Given the description of an element on the screen output the (x, y) to click on. 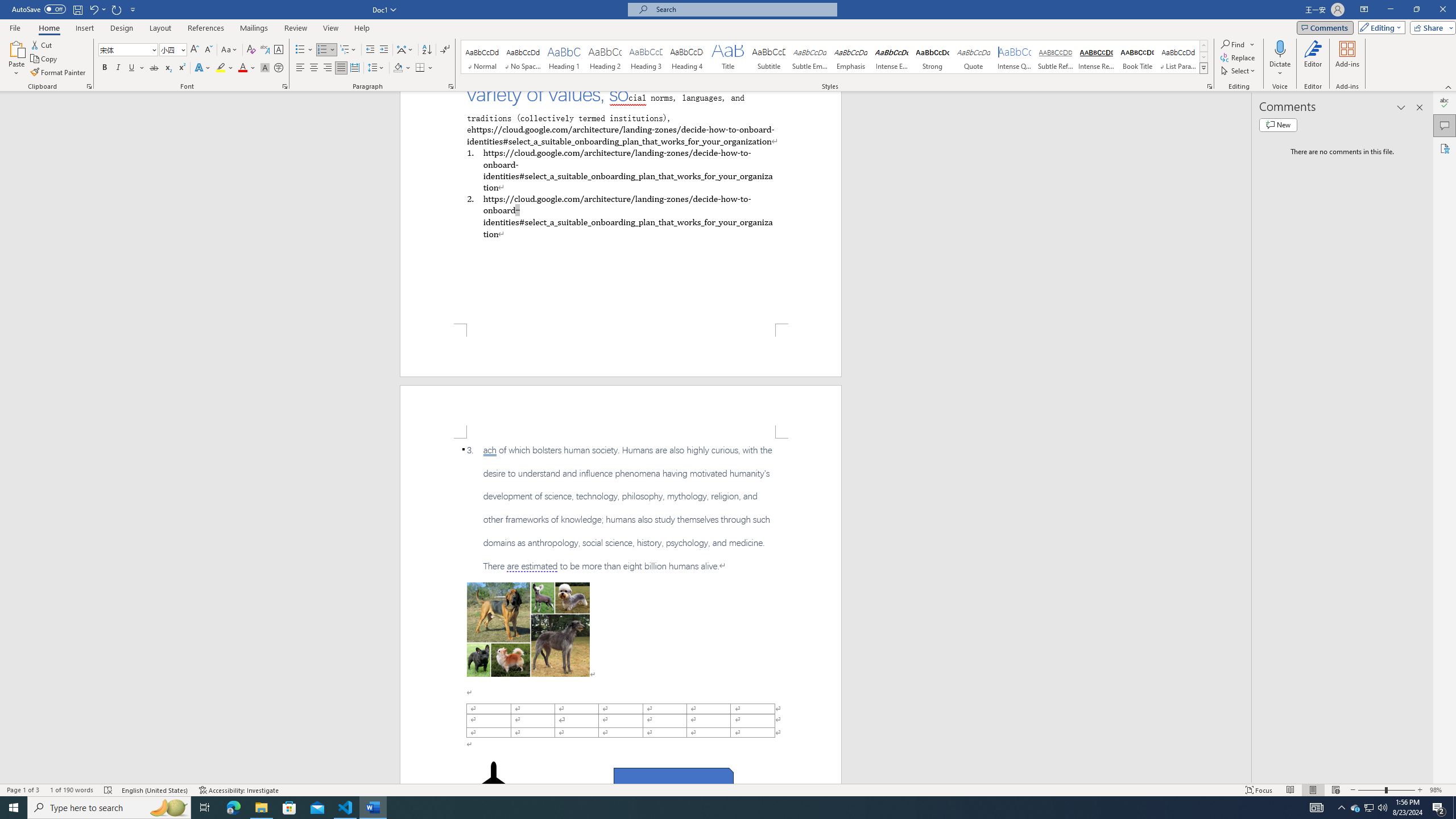
Shading RGB(0, 0, 0) (397, 67)
Font Color (246, 67)
Sort... (426, 49)
Grow Font (193, 49)
Justify (340, 67)
Quote (973, 56)
Page 2 content (620, 610)
Format Painter (58, 72)
Subscript (167, 67)
Align Left (300, 67)
Close pane (1419, 107)
Airplane with solid fill (493, 783)
Minimize (1390, 9)
Font Size (172, 49)
